Given the description of an element on the screen output the (x, y) to click on. 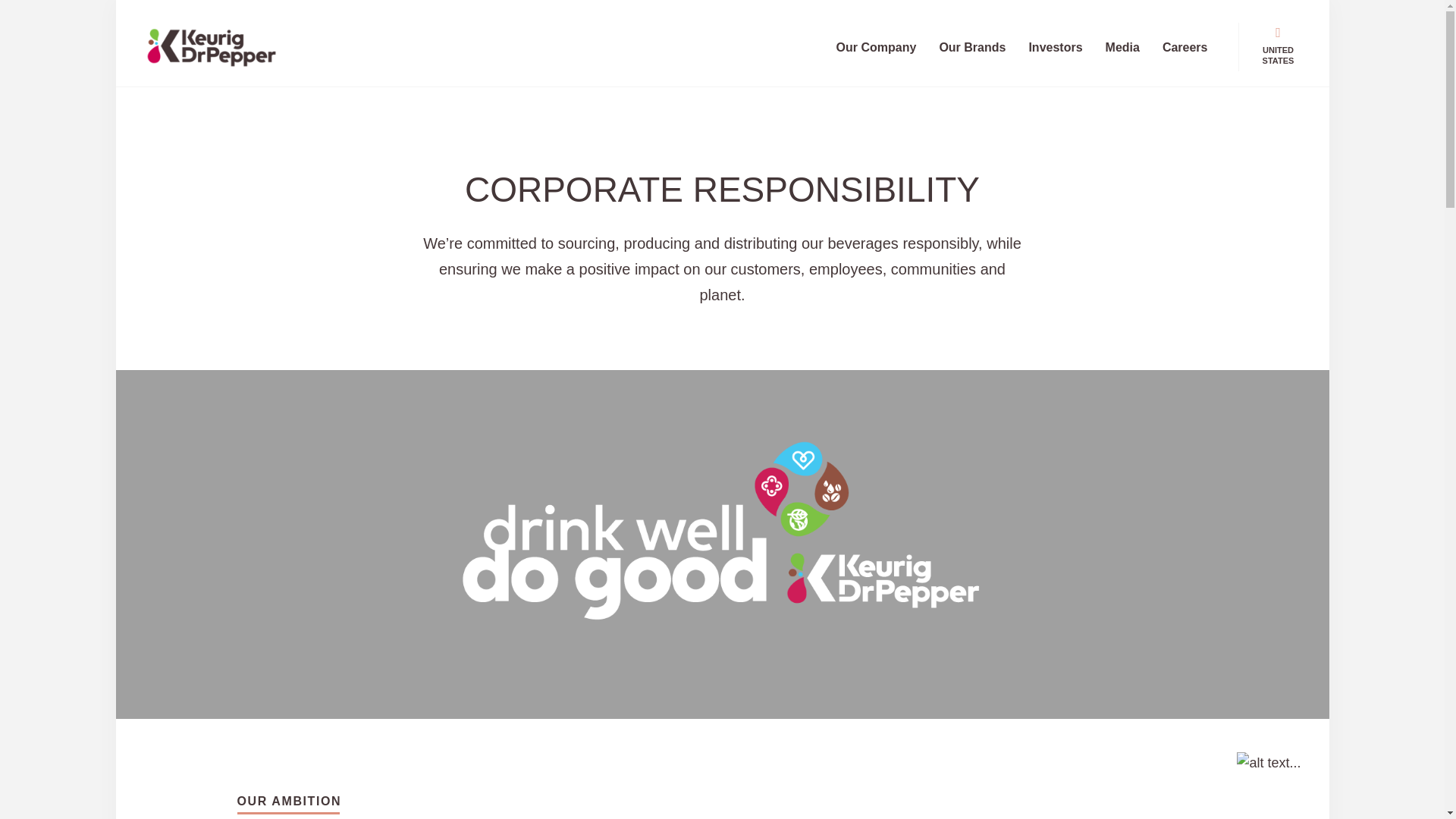
Investors (1054, 47)
Our Company (876, 47)
UNITED STATES (1277, 48)
Our Brands (972, 47)
Careers (1184, 47)
Media (1122, 47)
